Given the description of an element on the screen output the (x, y) to click on. 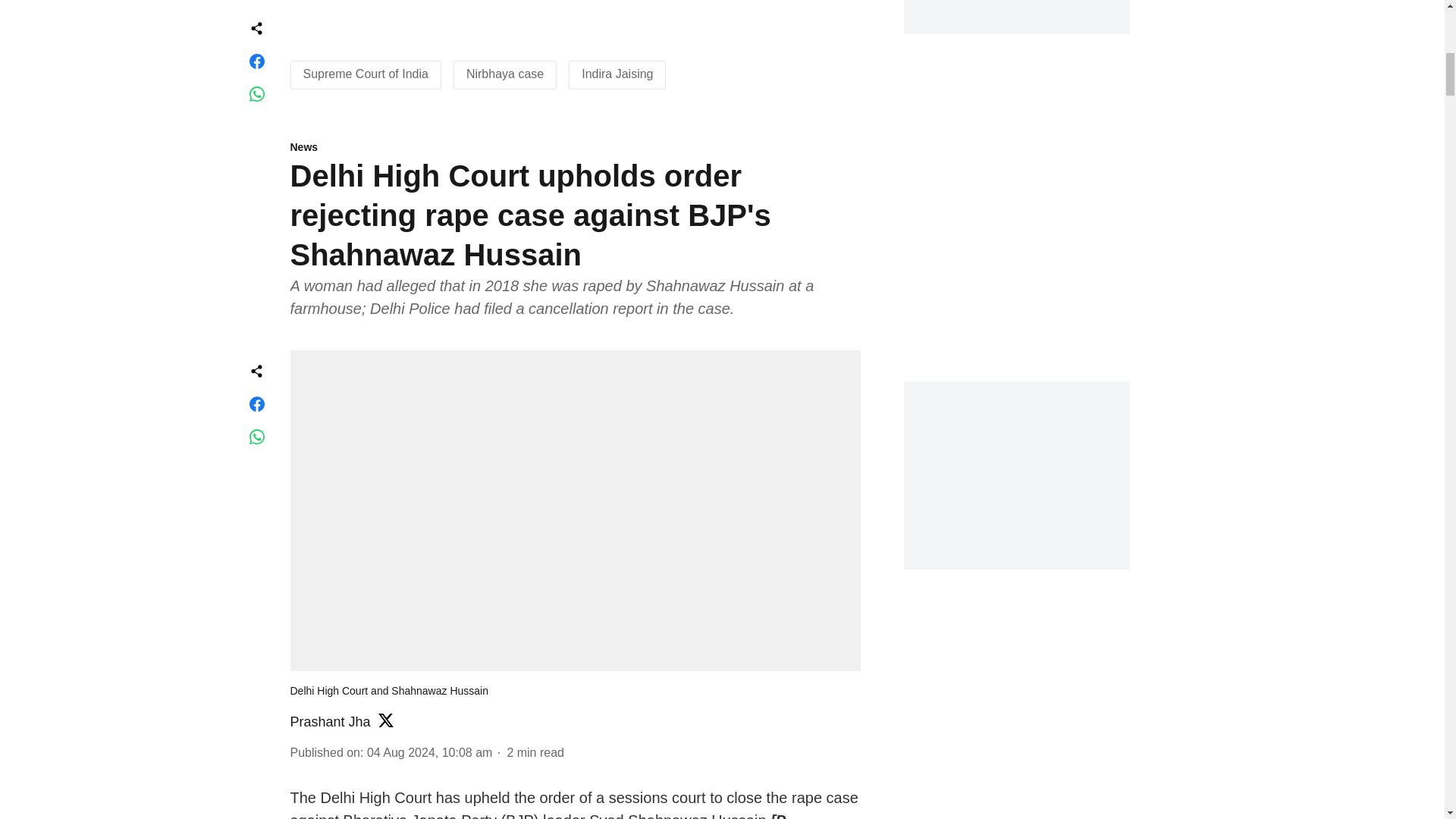
Indira Jaising (616, 73)
Supreme Court of India (365, 73)
2024-08-04 02:08 (429, 752)
News (574, 148)
Nirbhaya case (504, 73)
Prashant Jha (329, 721)
